Given the description of an element on the screen output the (x, y) to click on. 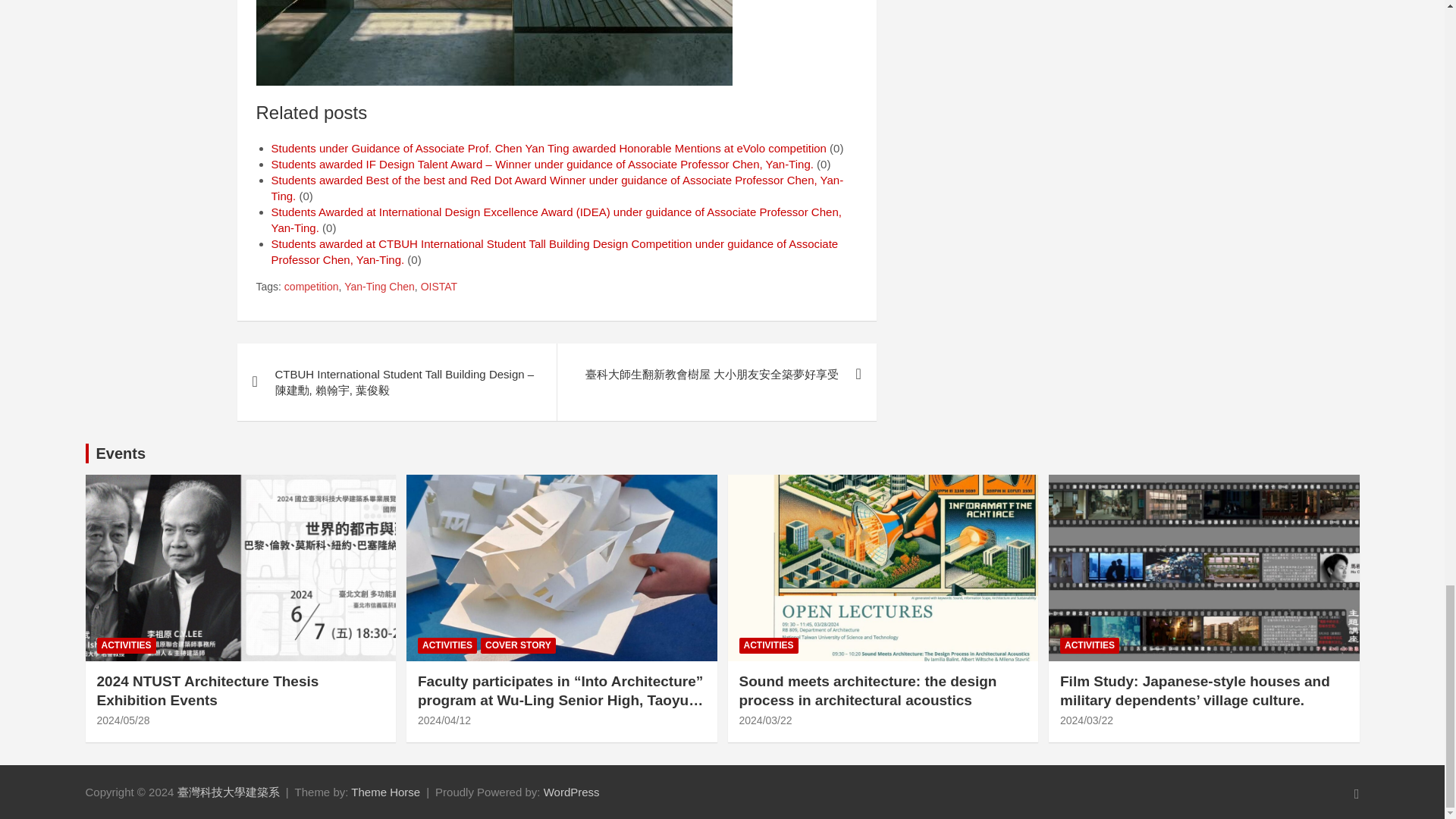
2024 NTUST Architecture Thesis Exhibition Events (123, 720)
Theme Horse (385, 791)
WordPress (571, 791)
